Given the description of an element on the screen output the (x, y) to click on. 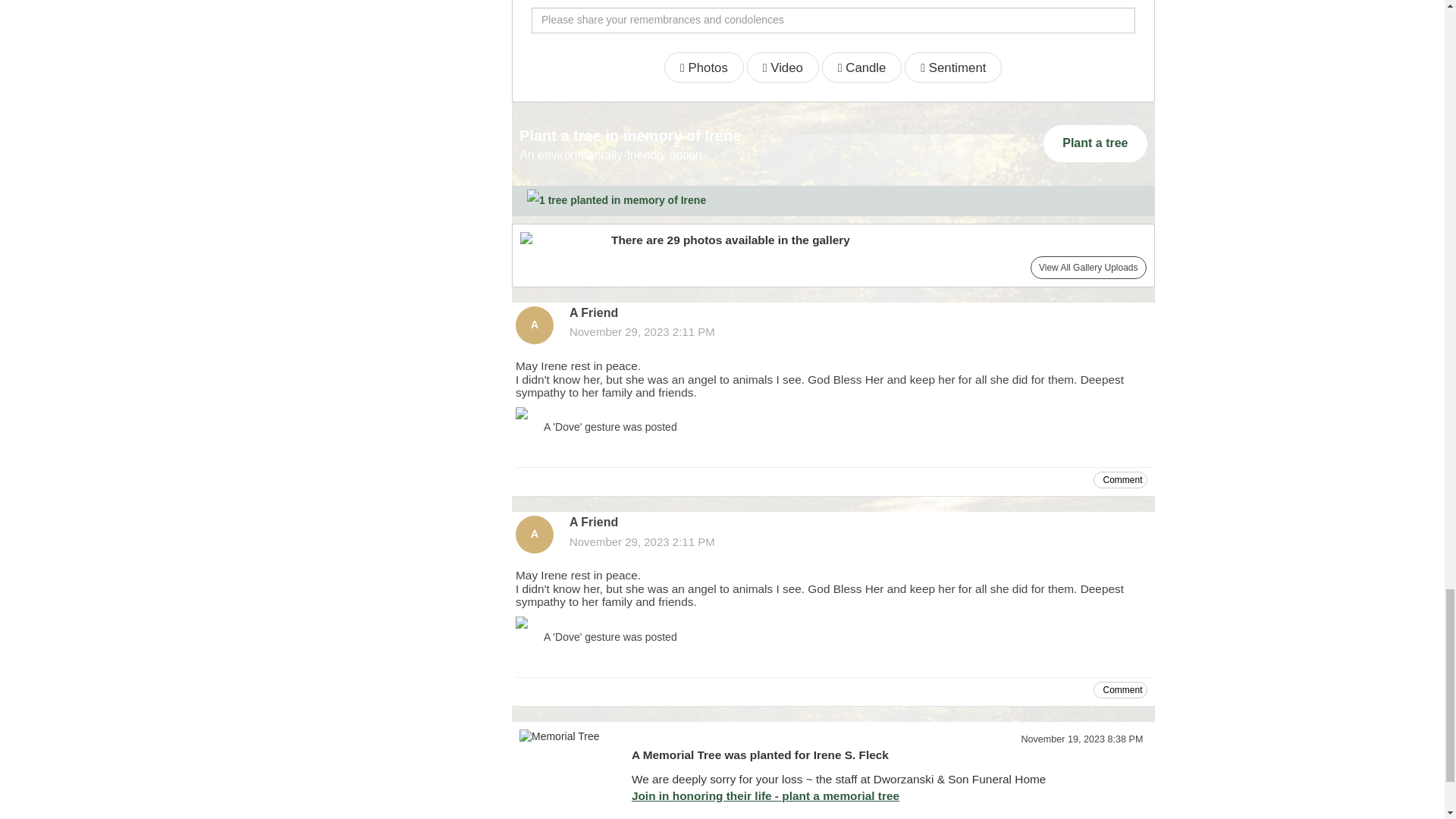
A Friend (534, 324)
A Friend (534, 534)
